Given the description of an element on the screen output the (x, y) to click on. 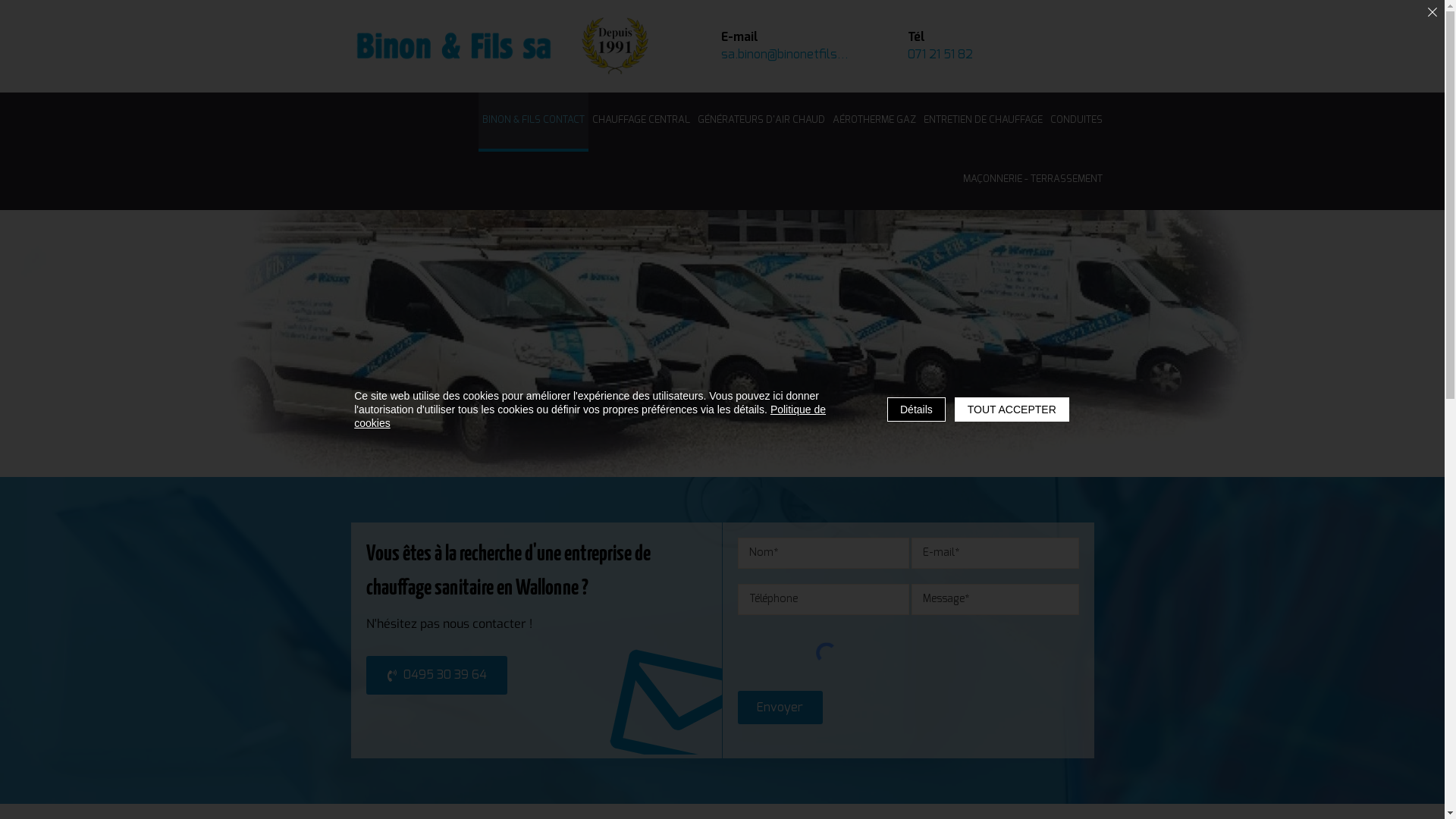
CHAUFFAGE CENTRAL Element type: text (640, 121)
TOUT ACCEPTER Element type: text (1011, 409)
sa.binon@binonetfils.be Element type: text (786, 54)
071 21 51 82 Element type: text (972, 54)
ENTRETIEN DE CHAUFFAGE Element type: text (982, 121)
BINON & FILS CONTACT Element type: text (532, 121)
0495 30 39 64 Element type: text (435, 674)
CONDUITES Element type: text (1076, 121)
Envoyer Element type: text (779, 707)
Politique de cookies Element type: text (589, 416)
